Given the description of an element on the screen output the (x, y) to click on. 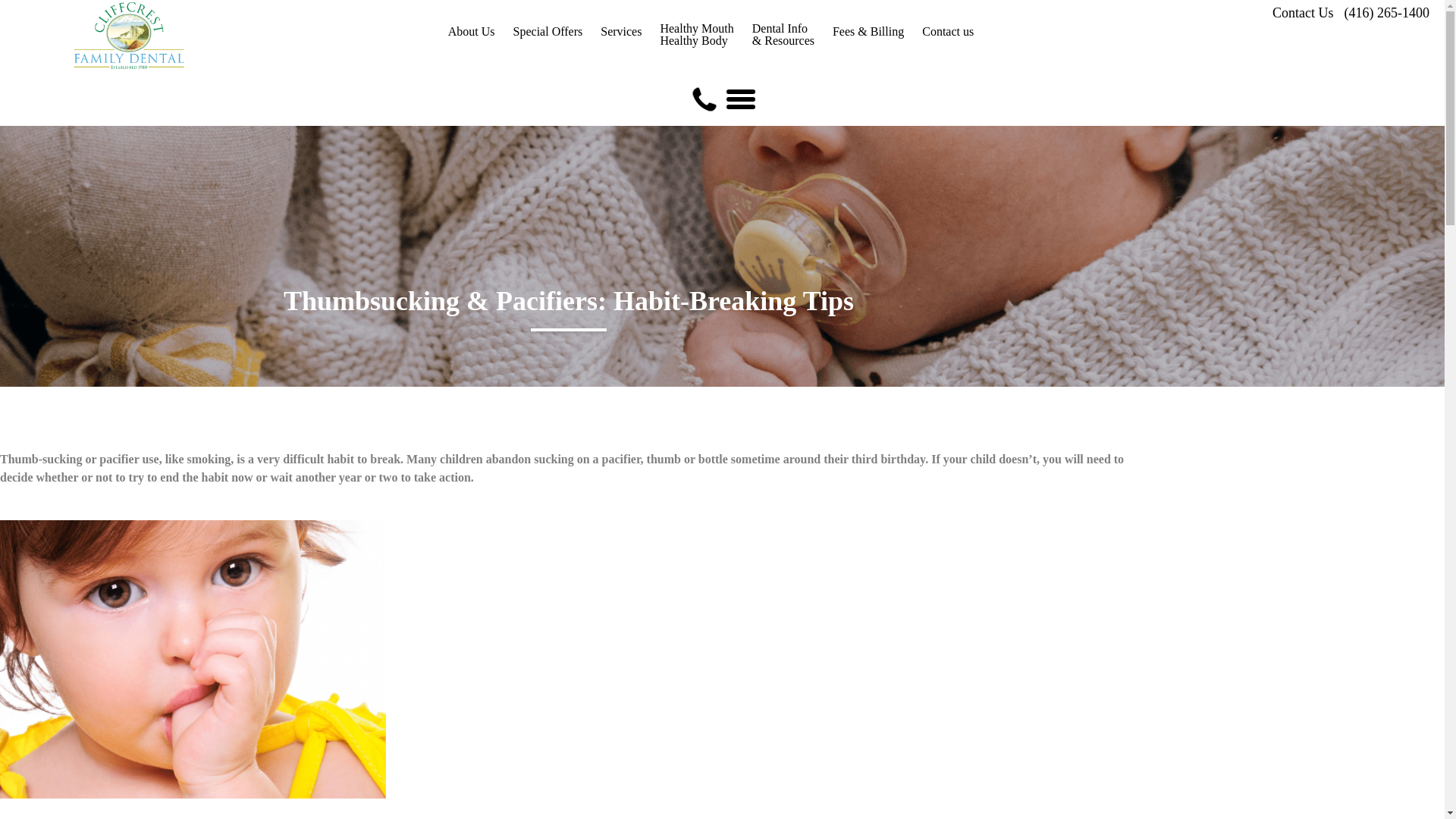
Cliffcrest Family Dental (181, 37)
